Given the description of an element on the screen output the (x, y) to click on. 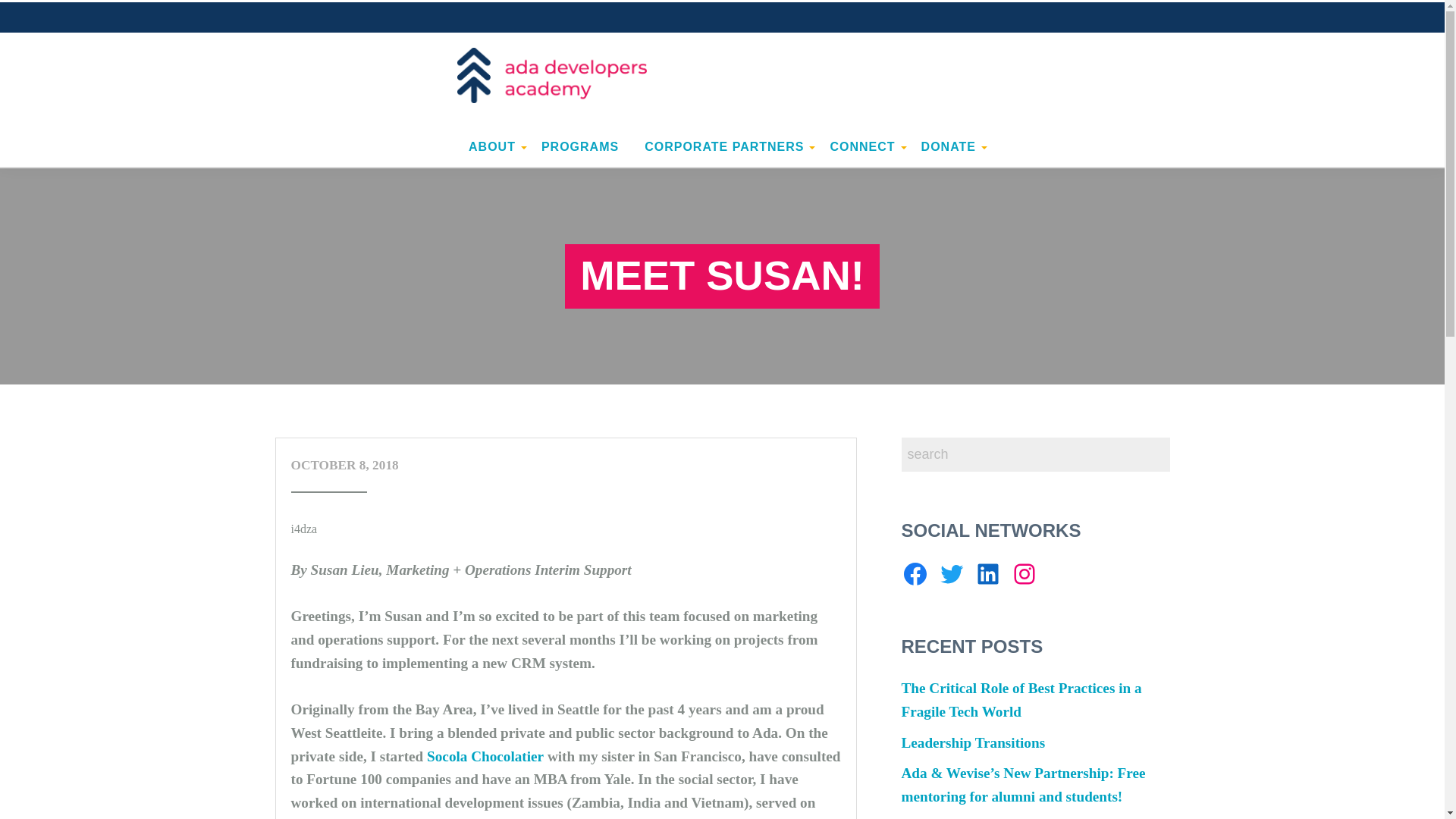
CORPORATE PARTNERS (724, 146)
PROGRAMS (579, 146)
ABOUT (492, 146)
Instagram (1023, 574)
The Critical Role of Best Practices in a Fragile Tech World (1021, 699)
DONATE (948, 146)
Twitter (950, 574)
Leadership Transitions (973, 742)
CONNECT (861, 146)
